Given the description of an element on the screen output the (x, y) to click on. 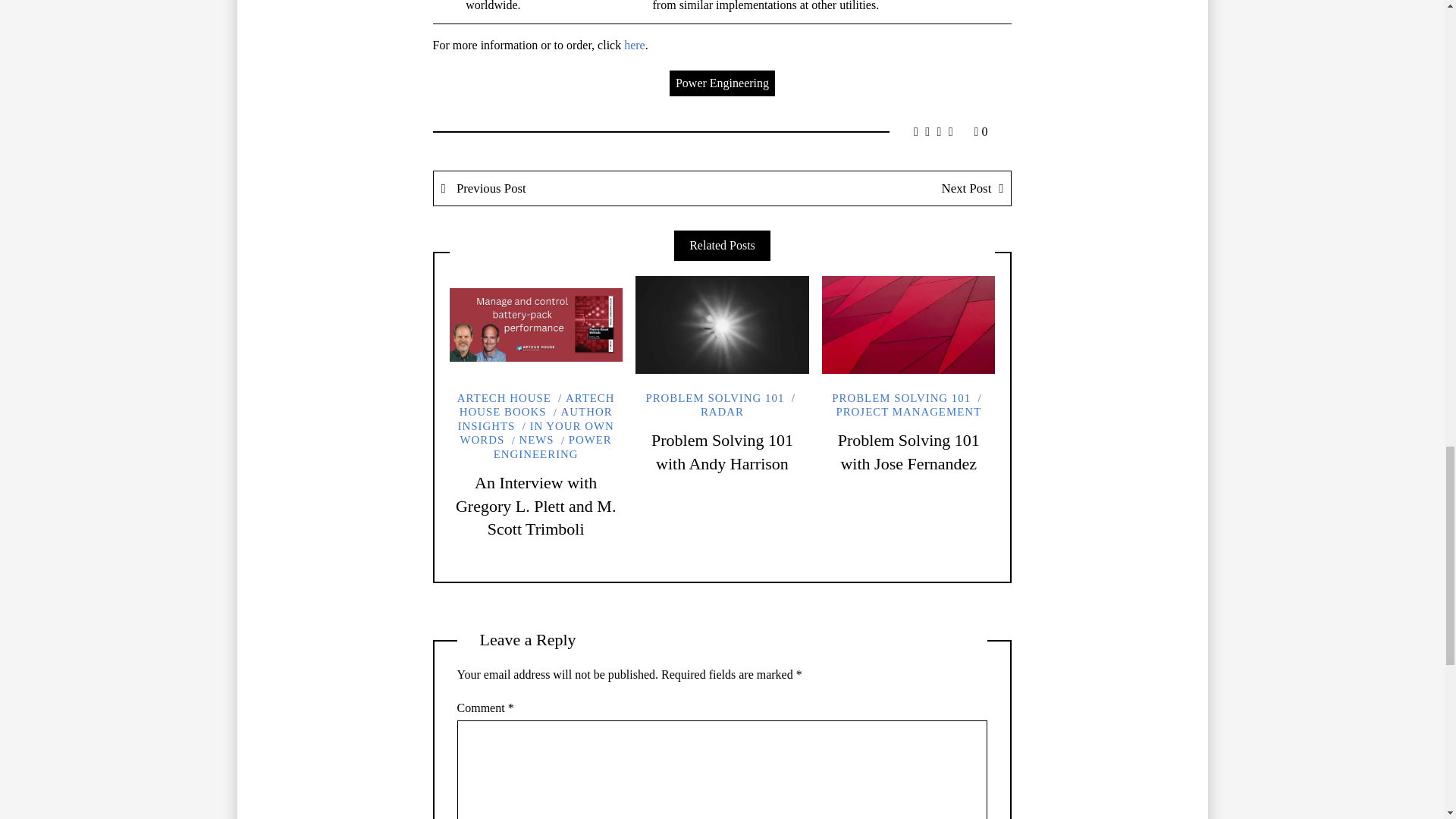
Problem Solving 101 with Jose Fernandez (908, 451)
An Interview with Gregory L. Plett and M. Scott Trimboli (535, 505)
Problem Solving 101 with Andy Harrison (721, 451)
Permalink to: "Problem Solving 101 with Jose Fernandez" (908, 324)
Permalink to: "Problem Solving 101 with Andy Harrison" (721, 324)
